Given the description of an element on the screen output the (x, y) to click on. 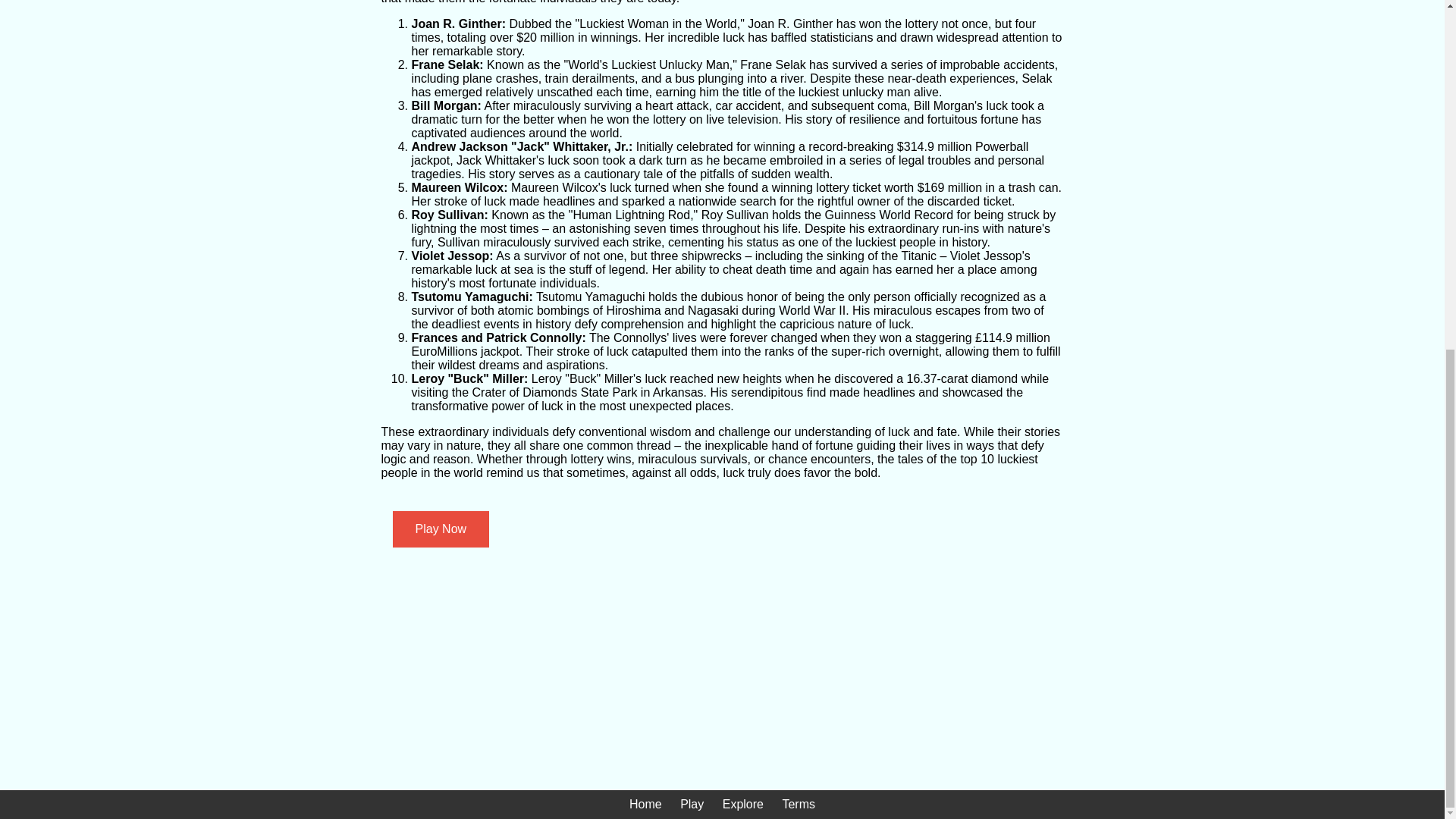
Play Now (440, 528)
Home (645, 803)
Play (691, 803)
Explore (742, 803)
Terms (798, 803)
